Given the description of an element on the screen output the (x, y) to click on. 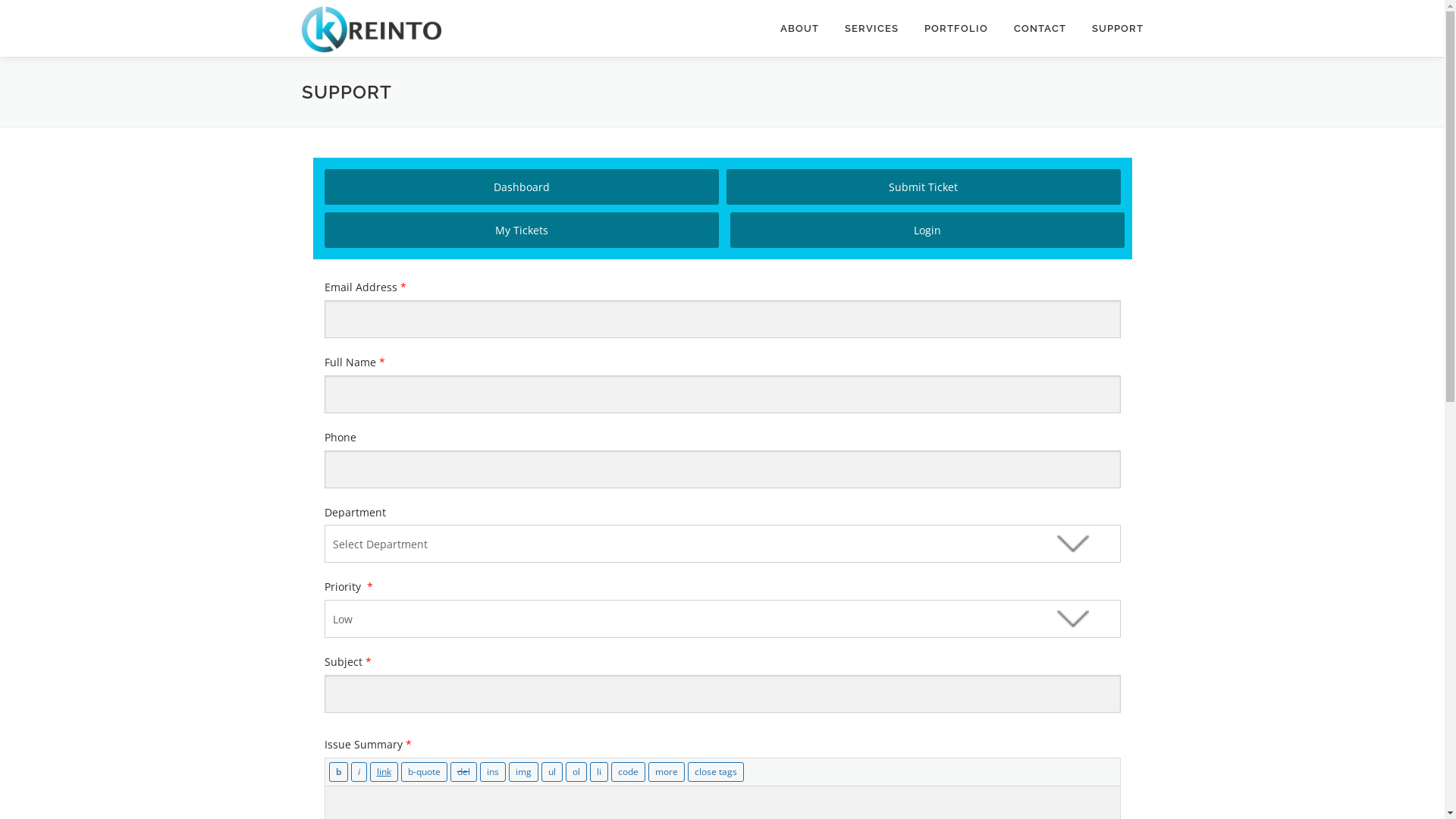
Dashboard Element type: text (521, 186)
PORTFOLIO Element type: text (956, 28)
CONTACT Element type: text (1040, 28)
My Tickets Element type: text (521, 229)
ABOUT Element type: text (799, 28)
Login Element type: text (926, 229)
Submit Ticket Element type: text (923, 186)
SUPPORT Element type: text (1110, 28)
Close all open tags Element type: hover (715, 771)
SERVICES Element type: text (870, 28)
